Given the description of an element on the screen output the (x, y) to click on. 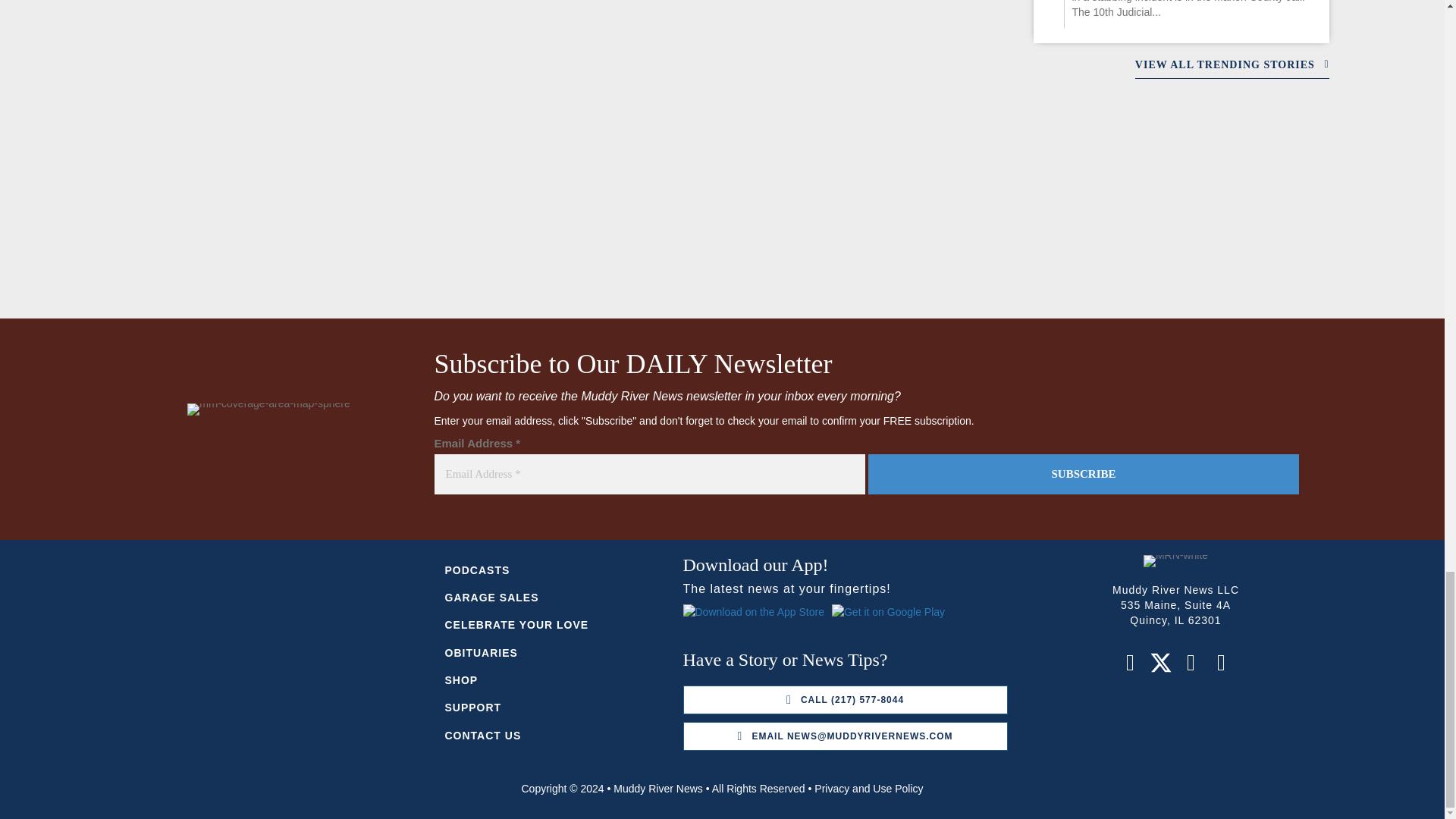
YouTube (1221, 662)
MRN-white (1175, 561)
Facebook (1130, 662)
mrn-coverage-area-map-sphere (268, 409)
Instagram (1190, 662)
Email Address (648, 474)
SUBSCRIBE (1082, 474)
